Given the description of an element on the screen output the (x, y) to click on. 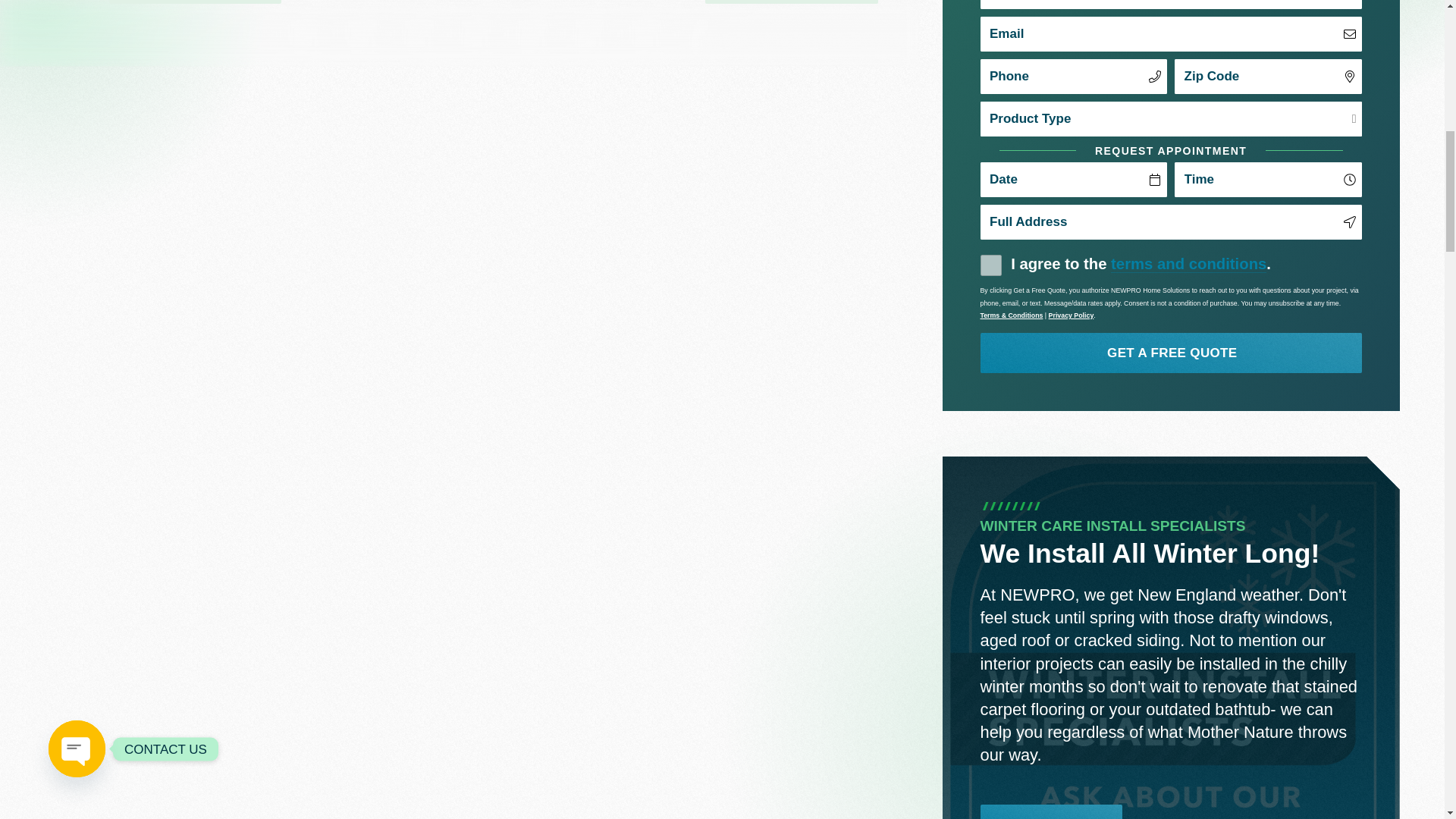
disclaimer-form (990, 265)
Get a Free Quote (1170, 352)
